Given the description of an element on the screen output the (x, y) to click on. 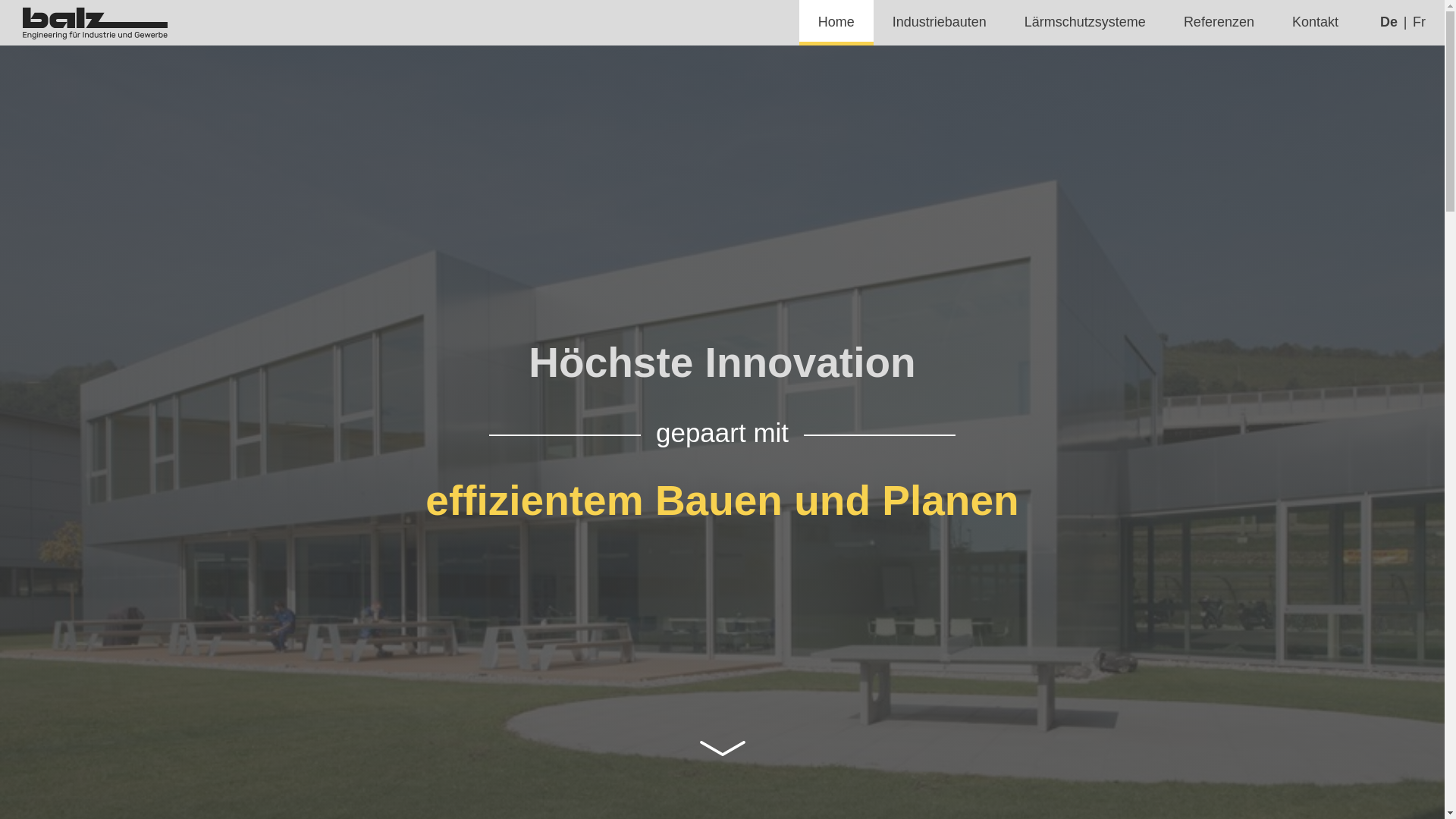
Kontakt Element type: text (1315, 22)
Balz Engineering AG Element type: text (94, 23)
  Element type: text (722, 748)
Fr Element type: text (1419, 22)
Home Element type: text (836, 22)
De Element type: text (1388, 22)
Industriebauten Element type: text (939, 22)
Referenzen Element type: text (1218, 22)
